Given the description of an element on the screen output the (x, y) to click on. 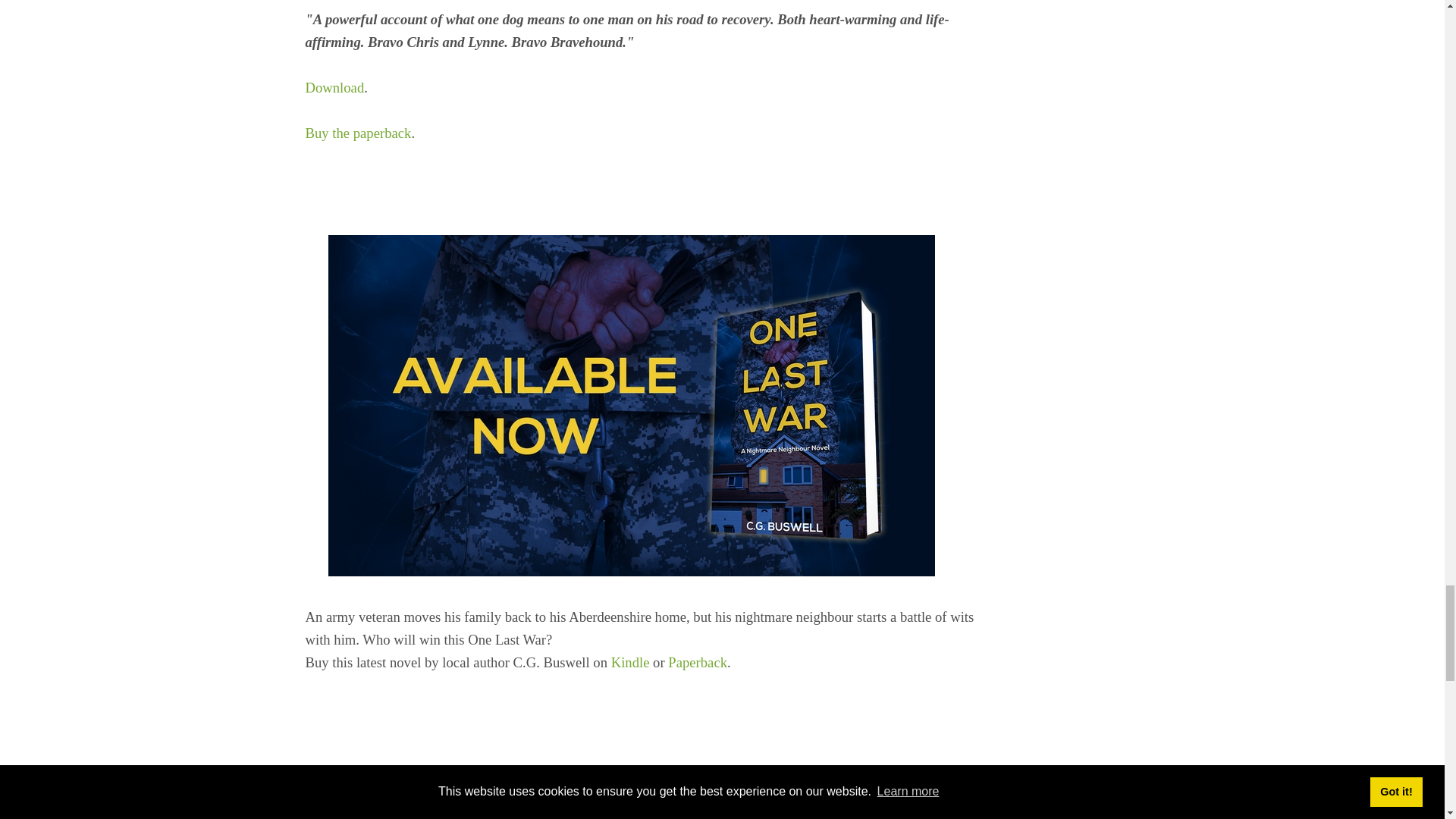
Download (334, 87)
